Given the description of an element on the screen output the (x, y) to click on. 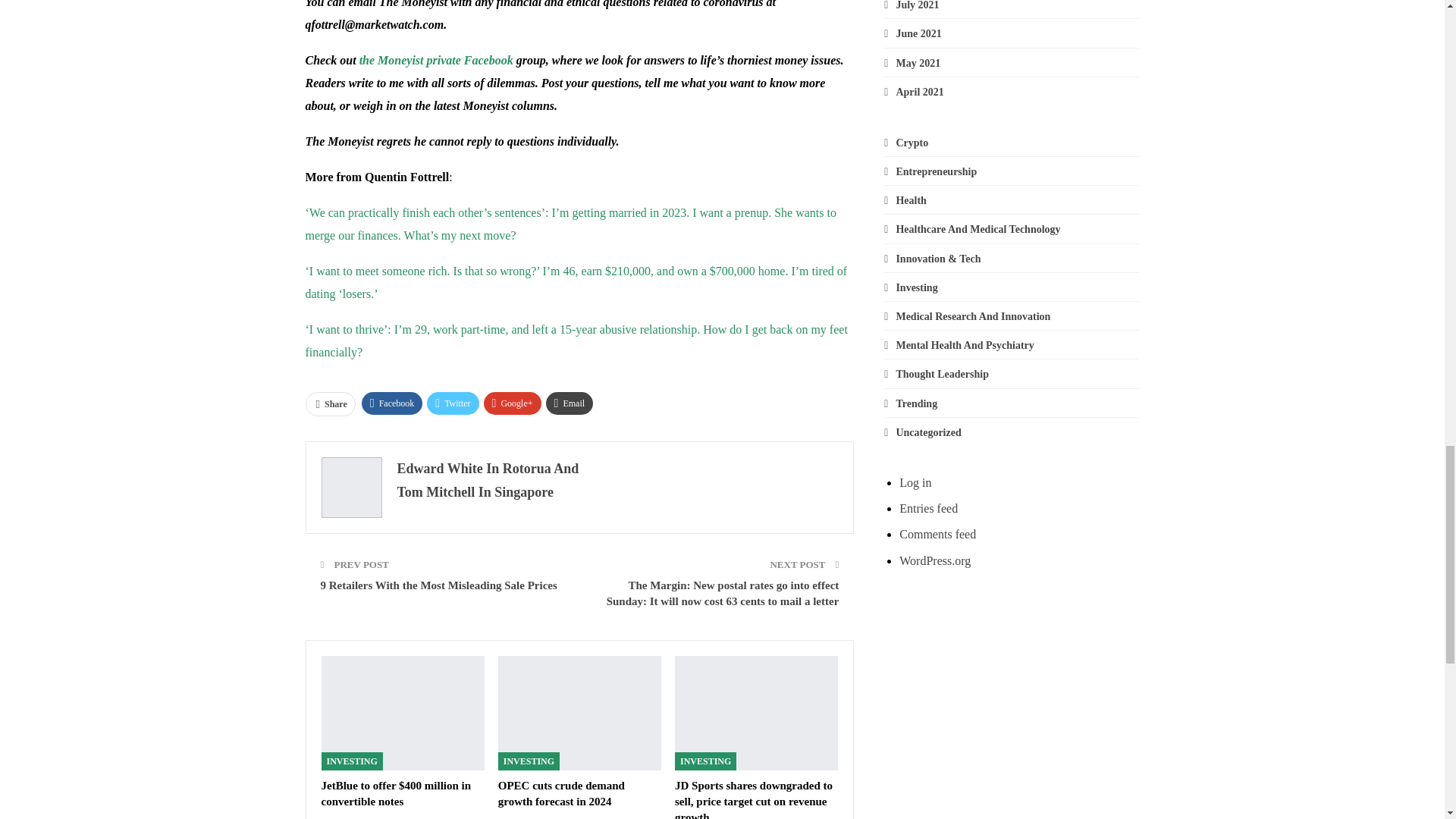
Facebook (392, 403)
OPEC cuts crude demand growth forecast in 2024 (560, 793)
the Moneyist private Facebook (436, 60)
9 Retailers With the Most Misleading Sale Prices (438, 585)
Twitter (452, 403)
OPEC cuts crude demand growth forecast in 2024 (579, 713)
Edward White In Rotorua And Tom Mitchell In Singapore (488, 480)
